Given the description of an element on the screen output the (x, y) to click on. 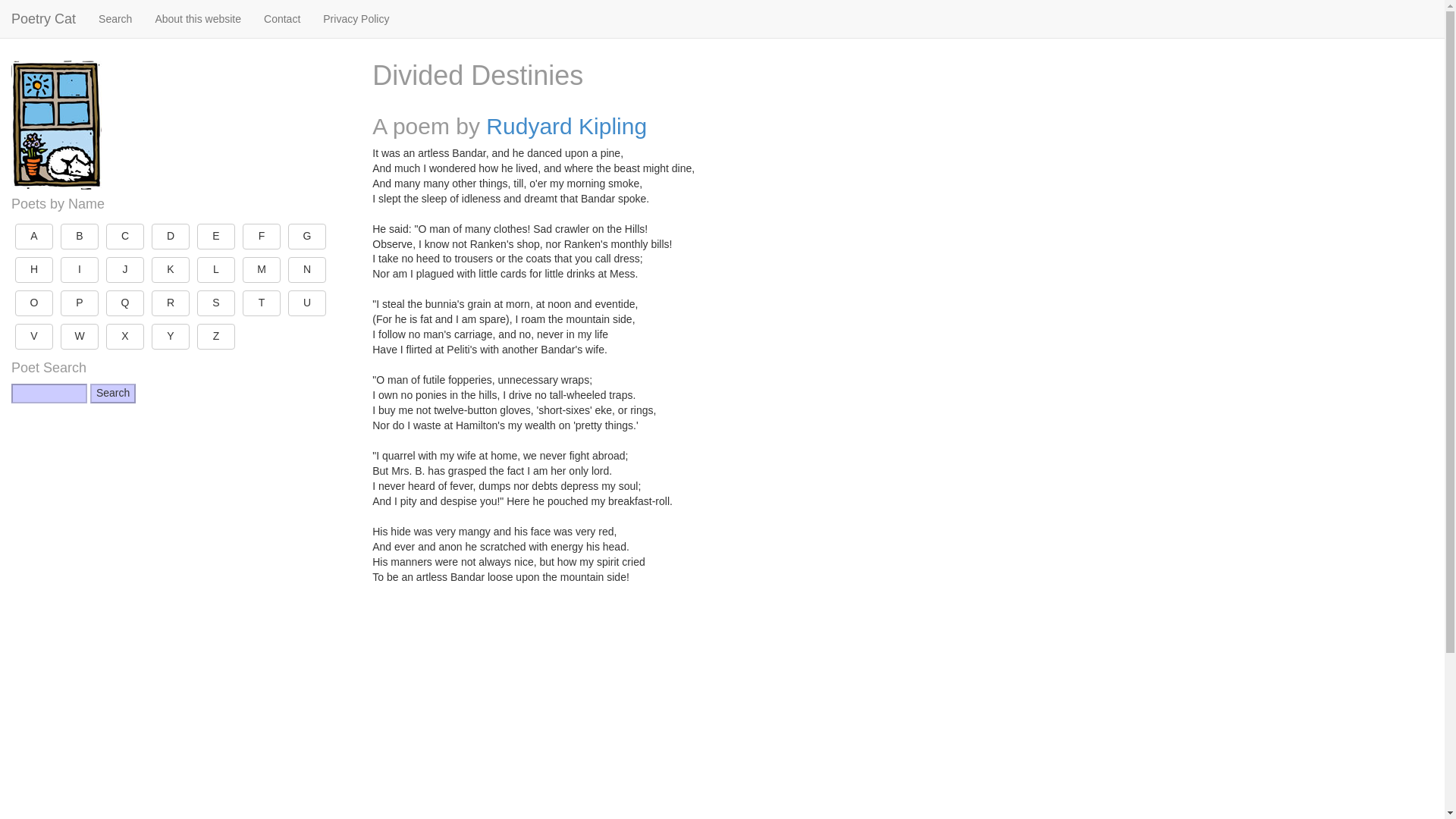
D (170, 236)
A (33, 236)
E (215, 236)
T (262, 303)
O (33, 303)
P (80, 303)
K (170, 269)
Search (112, 393)
U (307, 303)
Search (112, 393)
F (262, 236)
G (307, 236)
R (170, 303)
About this website (196, 18)
